Given the description of an element on the screen output the (x, y) to click on. 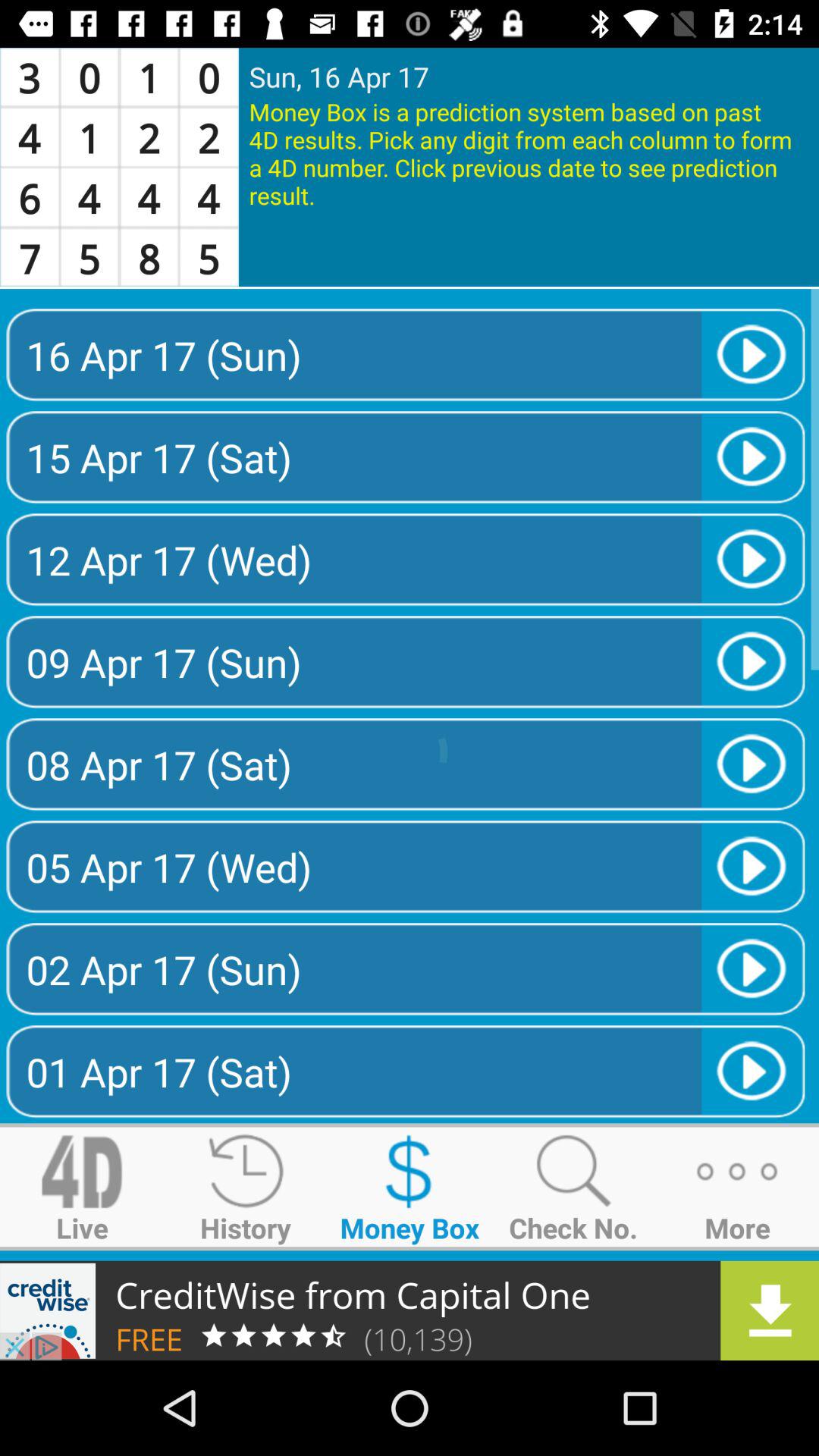
go to option (409, 1310)
